Given the description of an element on the screen output the (x, y) to click on. 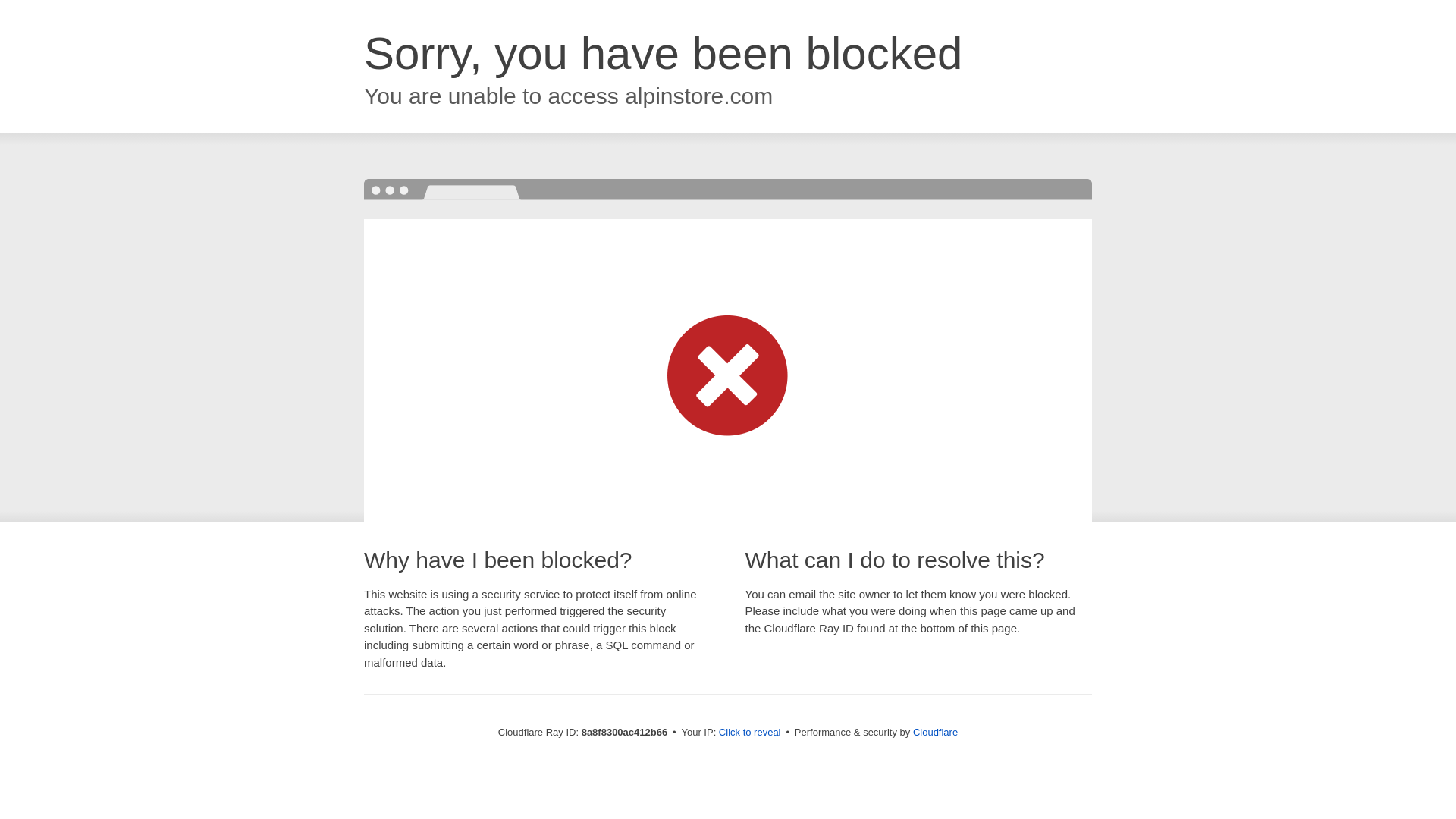
Cloudflare (935, 731)
Click to reveal (749, 732)
